Given the description of an element on the screen output the (x, y) to click on. 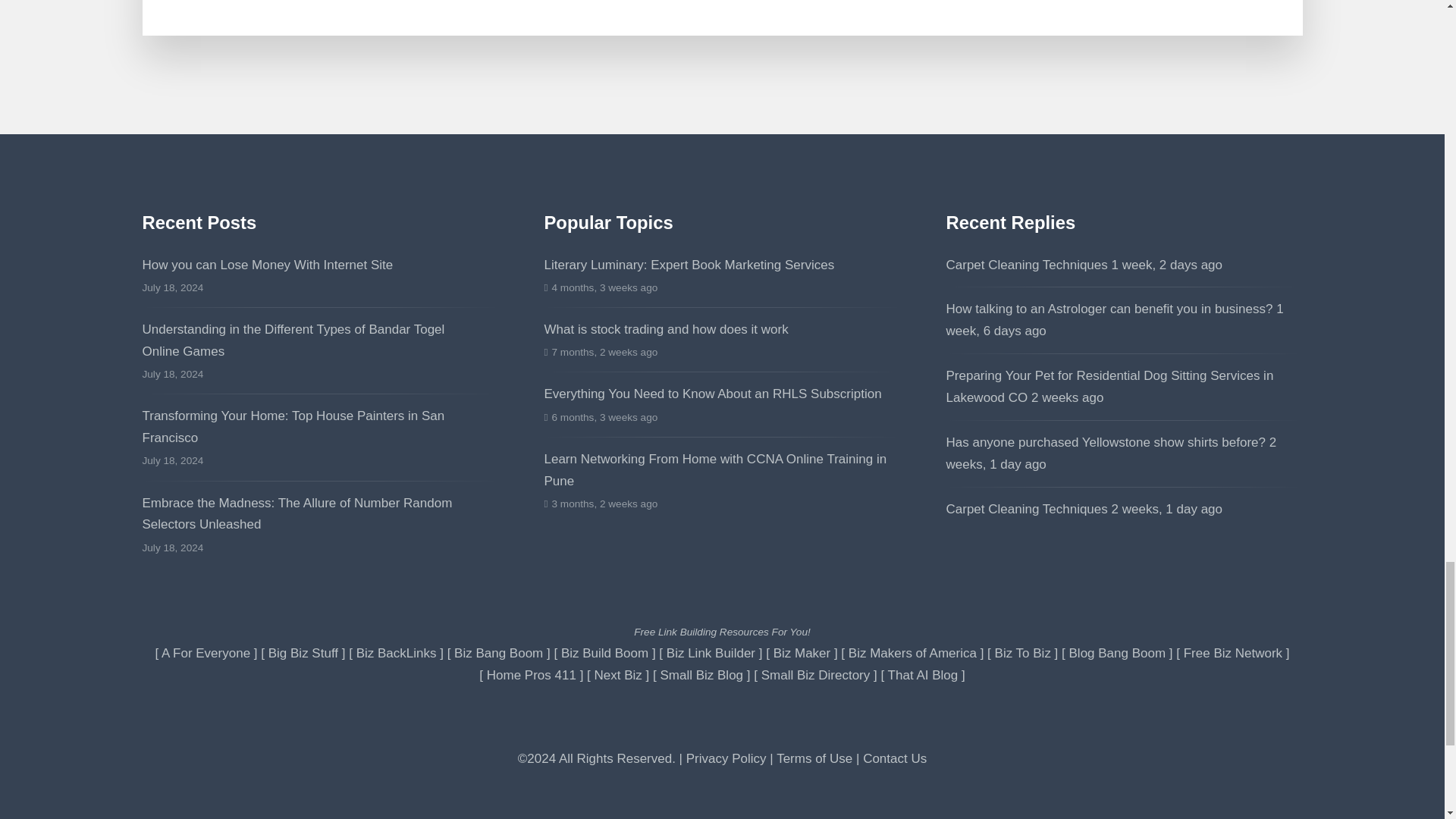
Biz Bang Boom - FREE Link building. (498, 653)
A For Everyone - FREE Link building. (205, 653)
Nice Post (1110, 386)
Big Biz Stuff - FREE Link building. (302, 653)
Biz BackLinks - FREE Link building. (396, 653)
